Given the description of an element on the screen output the (x, y) to click on. 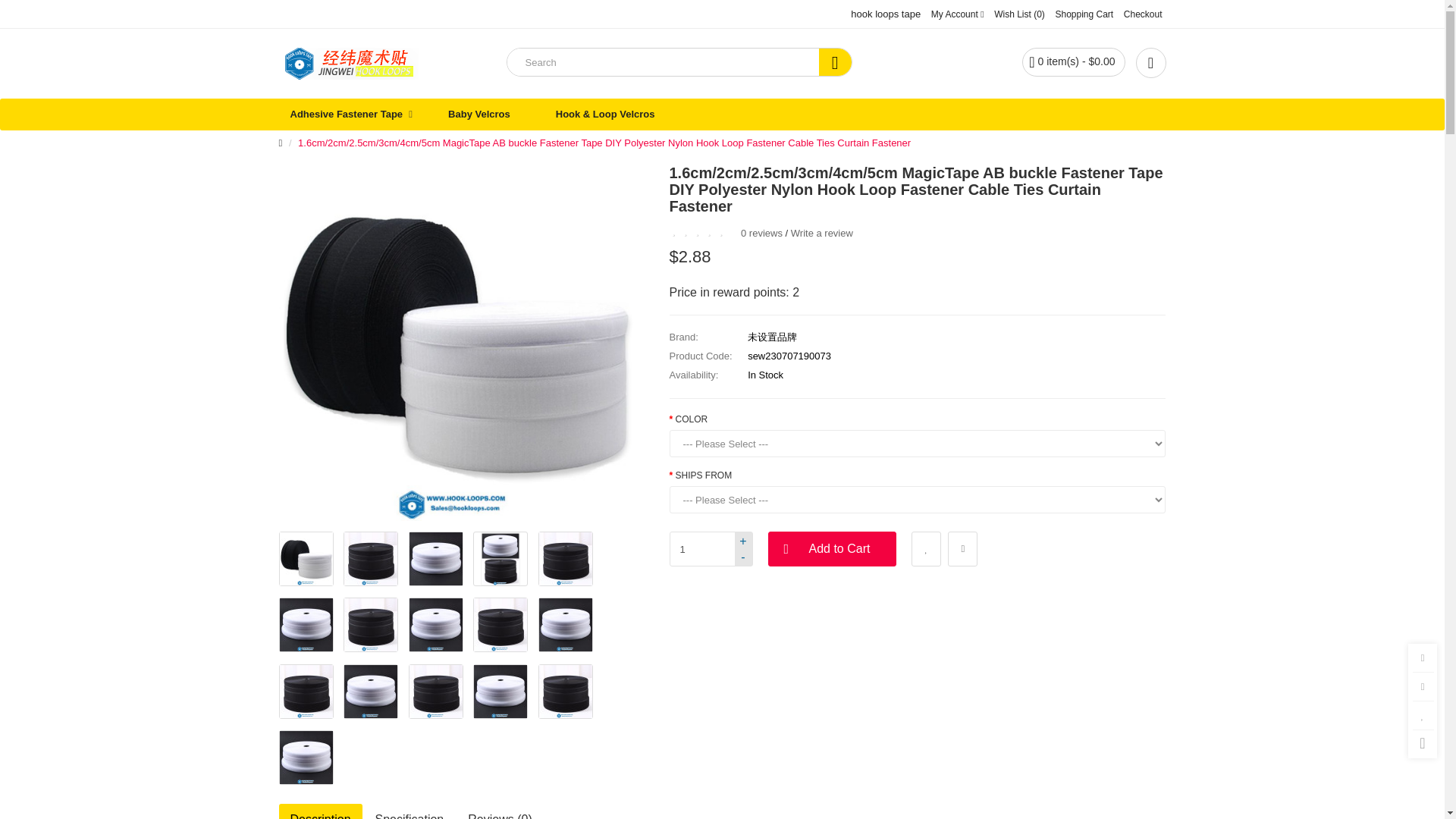
Shopping Cart (1083, 14)
Shopping Cart (1083, 14)
Baby Velcros (478, 114)
Checkout (1142, 14)
JingWei Hook loops  (349, 63)
My Account (957, 14)
1 (710, 548)
Adhesive Fastener Tape (346, 114)
My Account (957, 14)
Checkout (1142, 14)
